Given the description of an element on the screen output the (x, y) to click on. 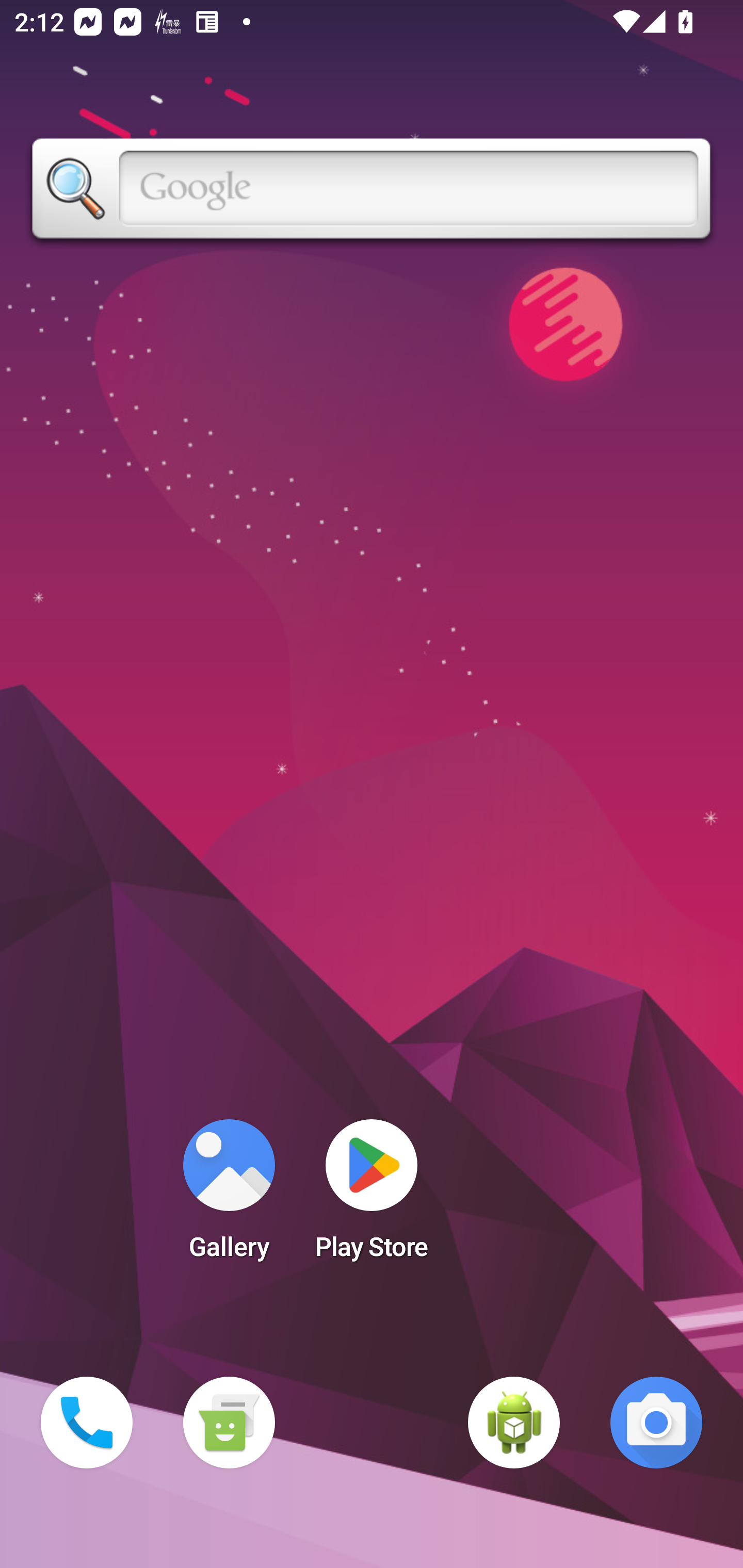
Gallery (228, 1195)
Play Store (371, 1195)
Phone (86, 1422)
Messaging (228, 1422)
WebView Browser Tester (513, 1422)
Camera (656, 1422)
